Given the description of an element on the screen output the (x, y) to click on. 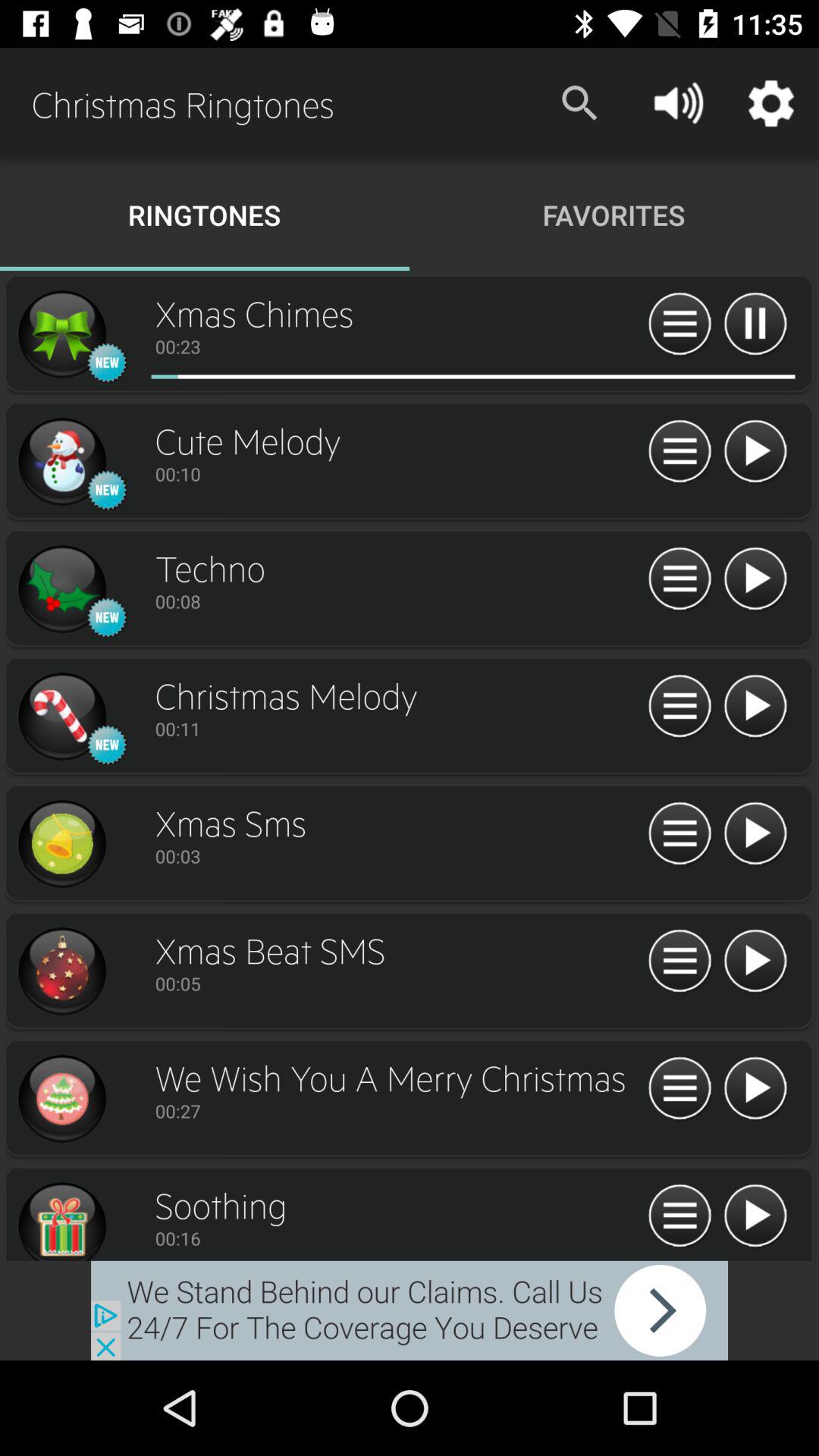
more (755, 324)
